Given the description of an element on the screen output the (x, y) to click on. 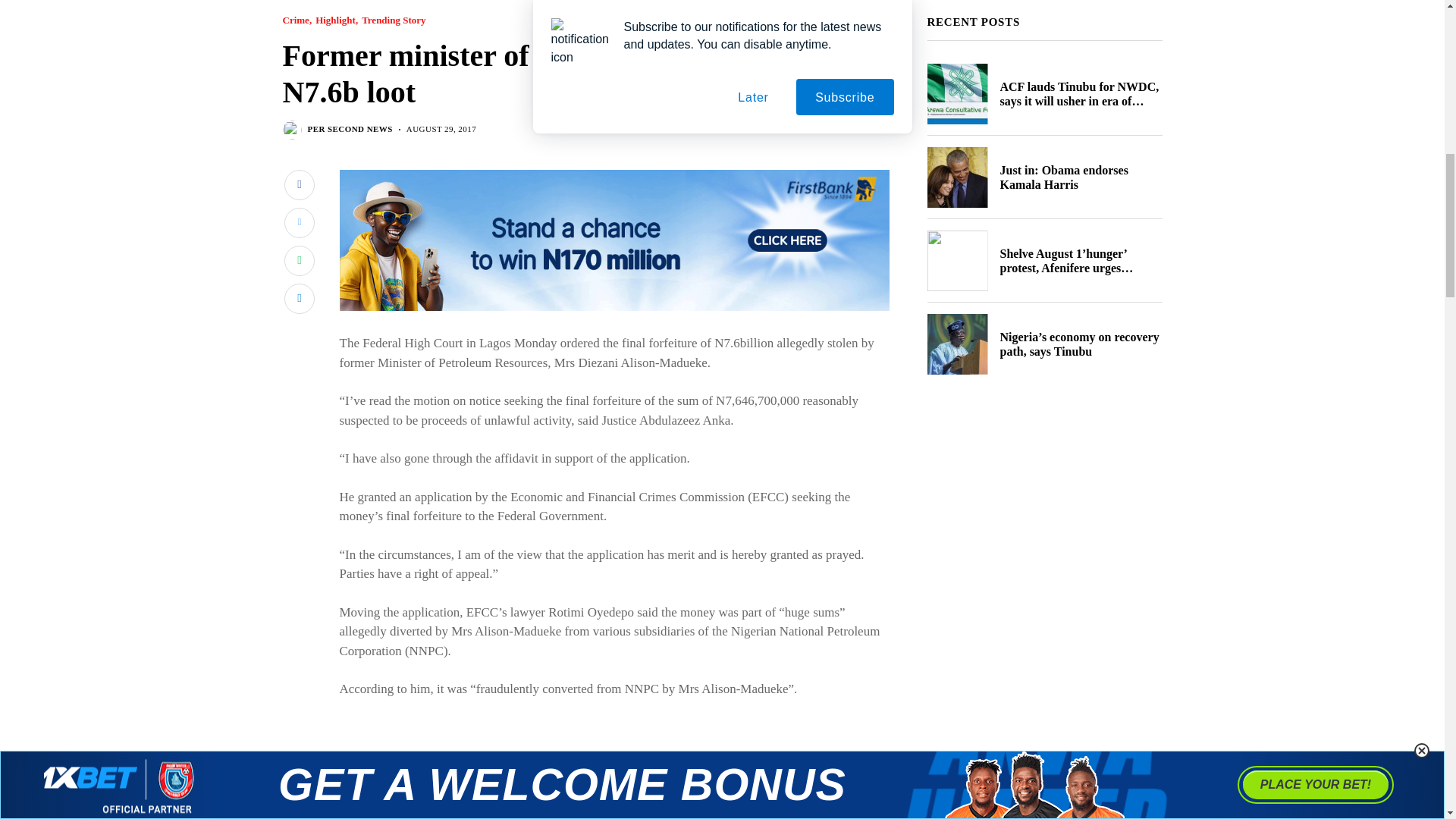
Posts by Per Second News (350, 129)
